Given the description of an element on the screen output the (x, y) to click on. 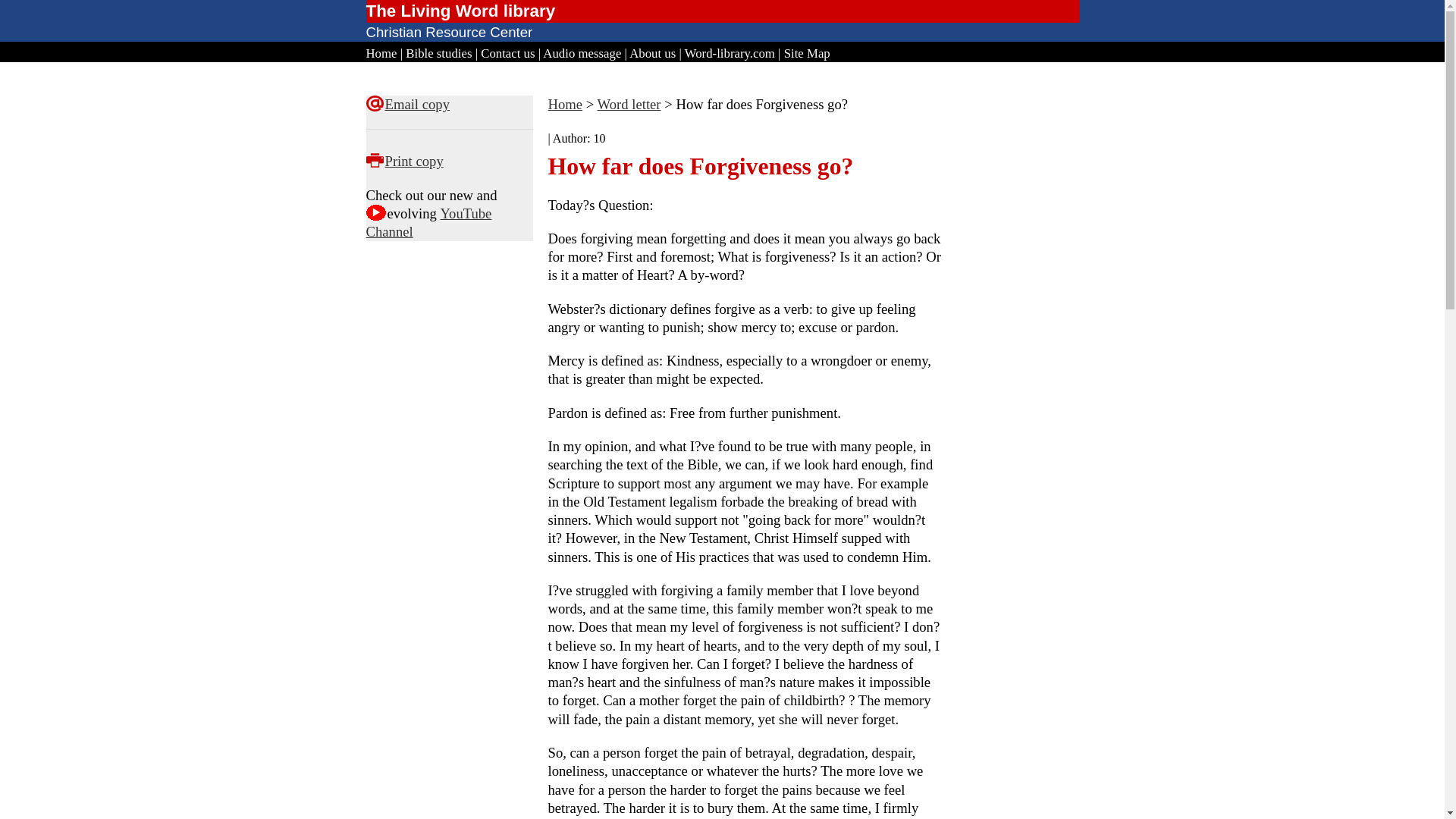
Email copy (417, 104)
Bible studies (438, 52)
YouTube Channel (428, 222)
Site Map (806, 52)
About us (651, 52)
Contact us (507, 52)
The Living Word library (459, 10)
Home (564, 104)
Home (380, 52)
Print copy (414, 160)
Audio message (582, 52)
Word-library.com (729, 52)
Word letter (628, 104)
